Given the description of an element on the screen output the (x, y) to click on. 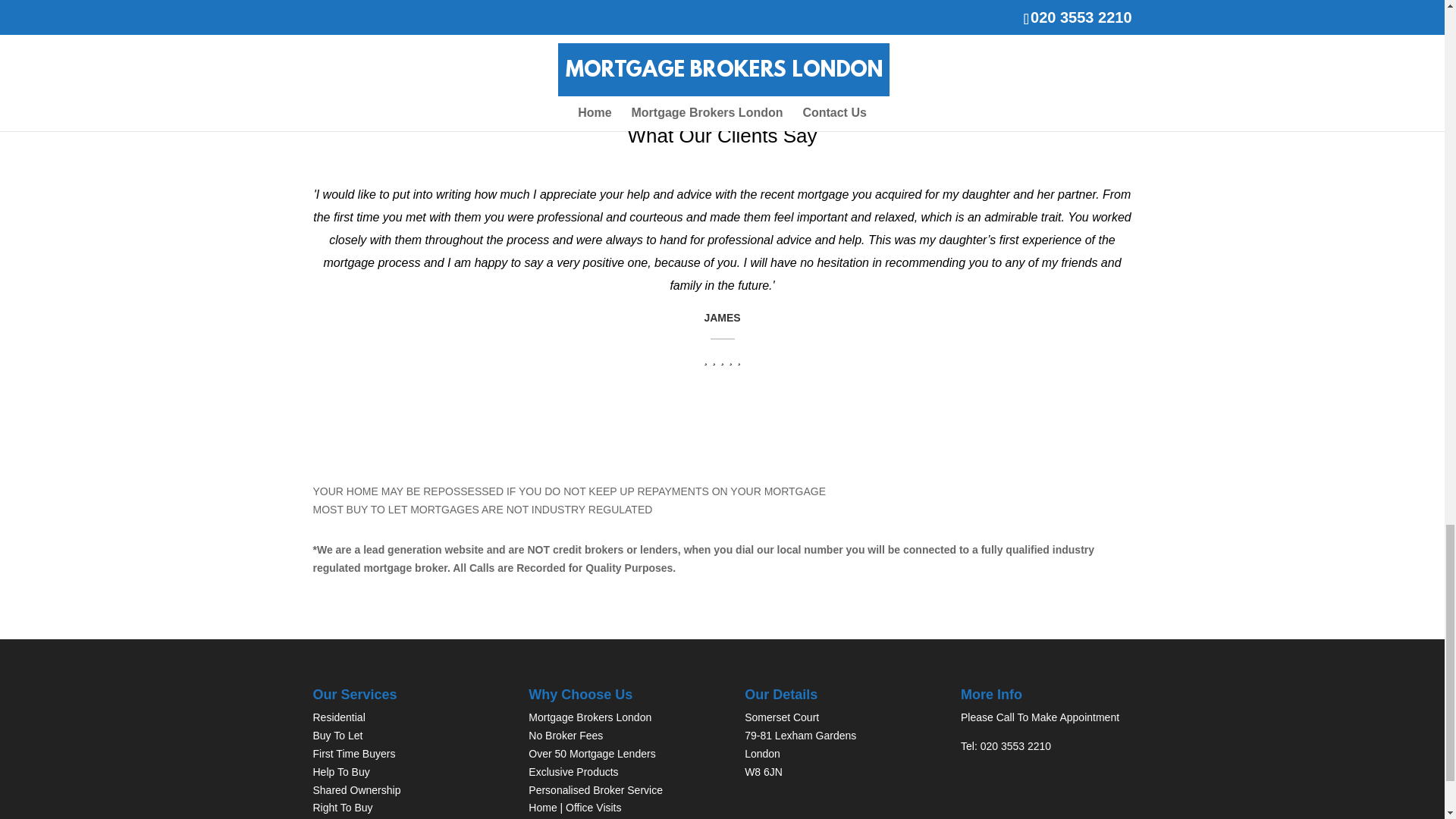
020 3553 2210 (1015, 746)
